Given the description of an element on the screen output the (x, y) to click on. 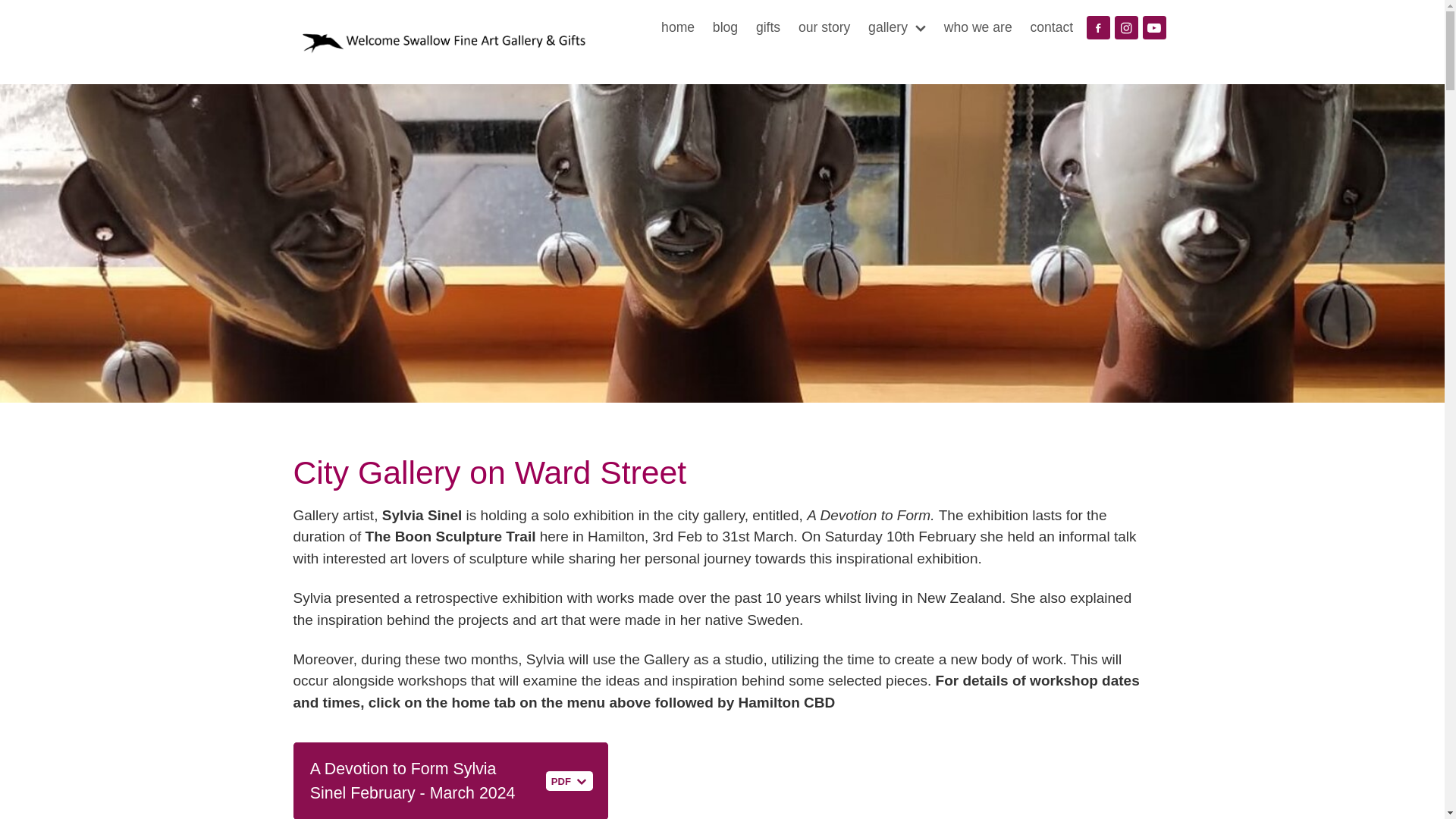
A link to this website's Youtube. (1154, 27)
who we are (978, 27)
gallery (896, 27)
A link to this website's Instagram. (1126, 27)
A link to this website's Facebook. (1097, 27)
home (677, 27)
our story (824, 27)
gifts (767, 27)
blog (724, 27)
contact (1051, 27)
